Given the description of an element on the screen output the (x, y) to click on. 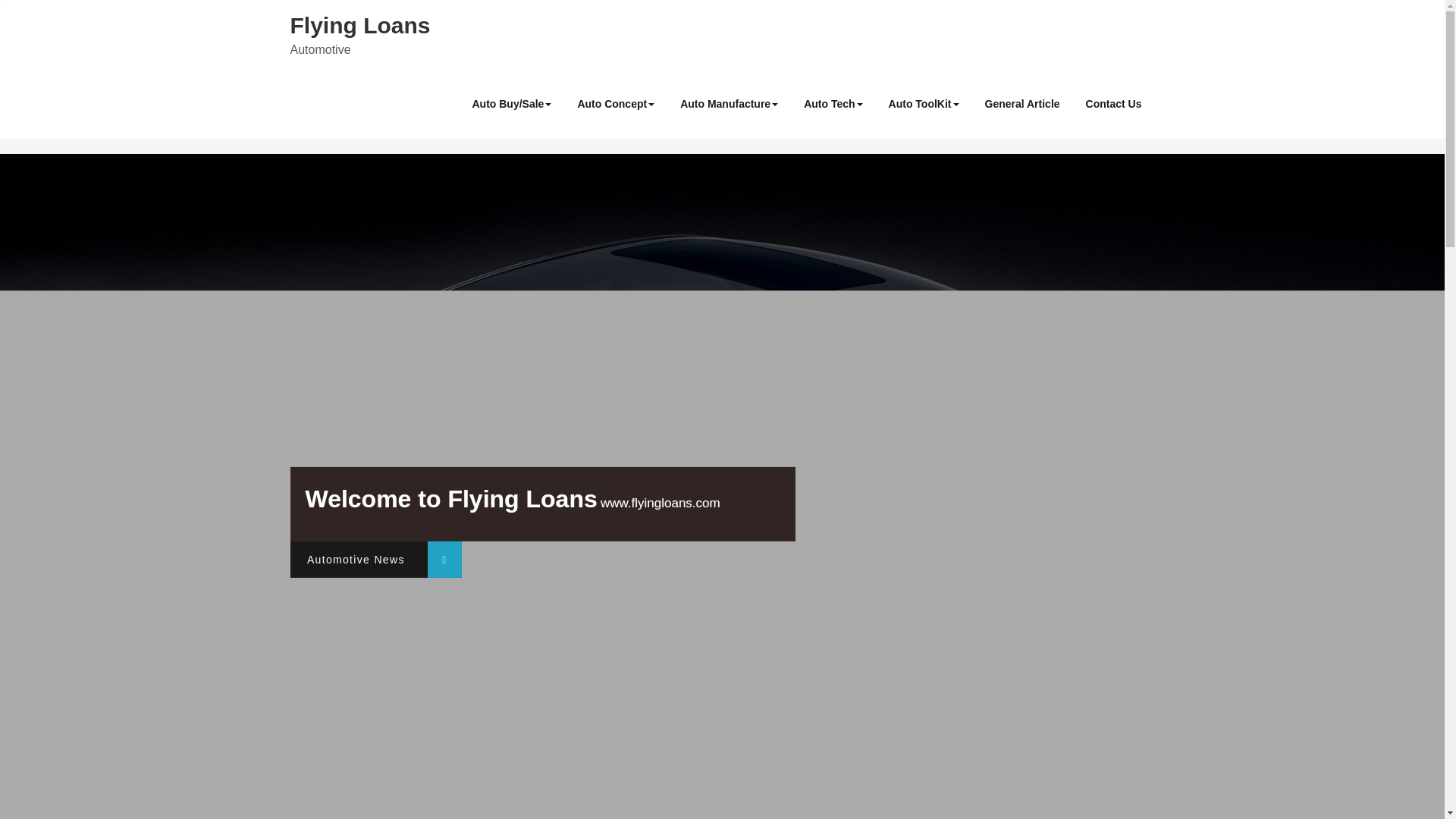
Contact Us (1113, 103)
Auto Concept (615, 103)
Automotive News (375, 559)
Auto Tech (832, 103)
Auto Manufacture (728, 103)
Flying Loans (359, 25)
Auto ToolKit (924, 103)
General Article (1022, 103)
